Given the description of an element on the screen output the (x, y) to click on. 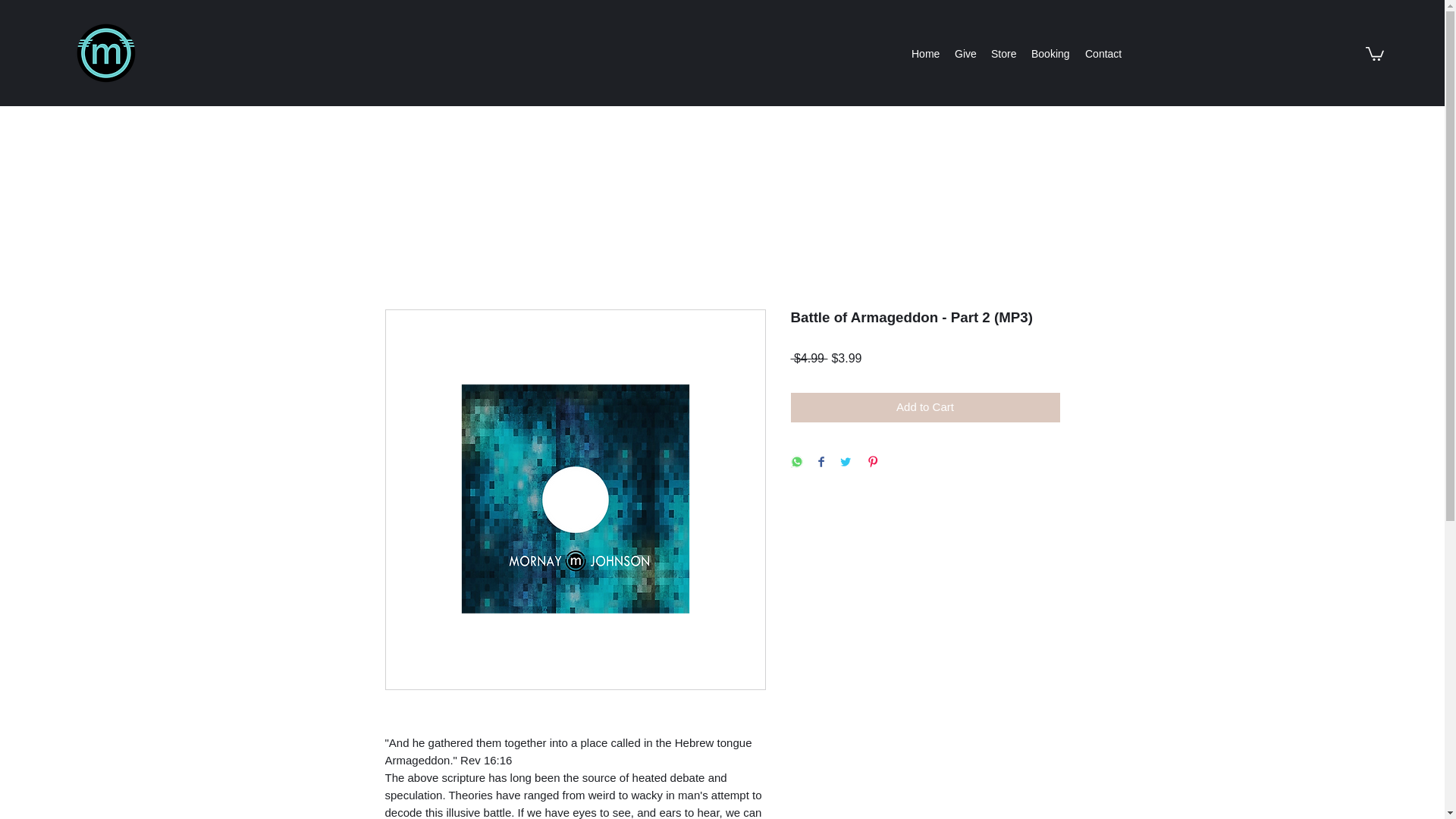
Contact (1102, 53)
Home (925, 53)
Add to Cart (924, 407)
Store (1003, 53)
Give (965, 53)
Booking (1050, 53)
